Given the description of an element on the screen output the (x, y) to click on. 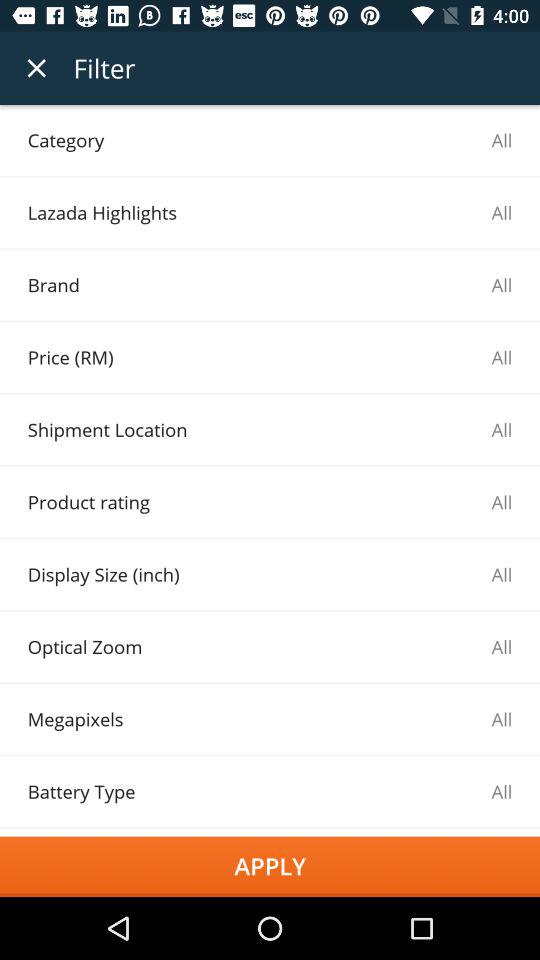
tap the icon above category item (36, 68)
